Given the description of an element on the screen output the (x, y) to click on. 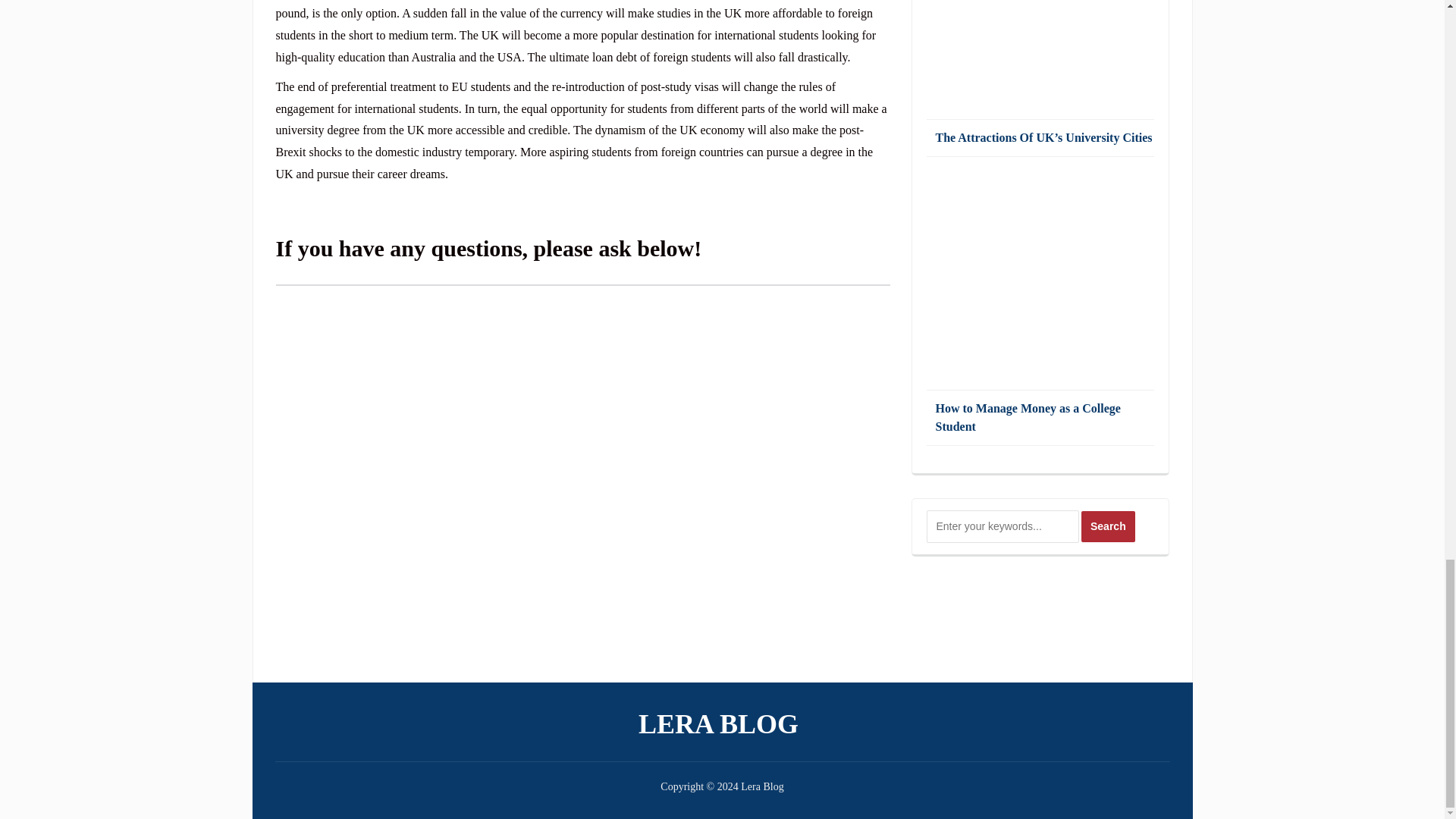
Search (1108, 526)
Search (1108, 526)
